Given the description of an element on the screen output the (x, y) to click on. 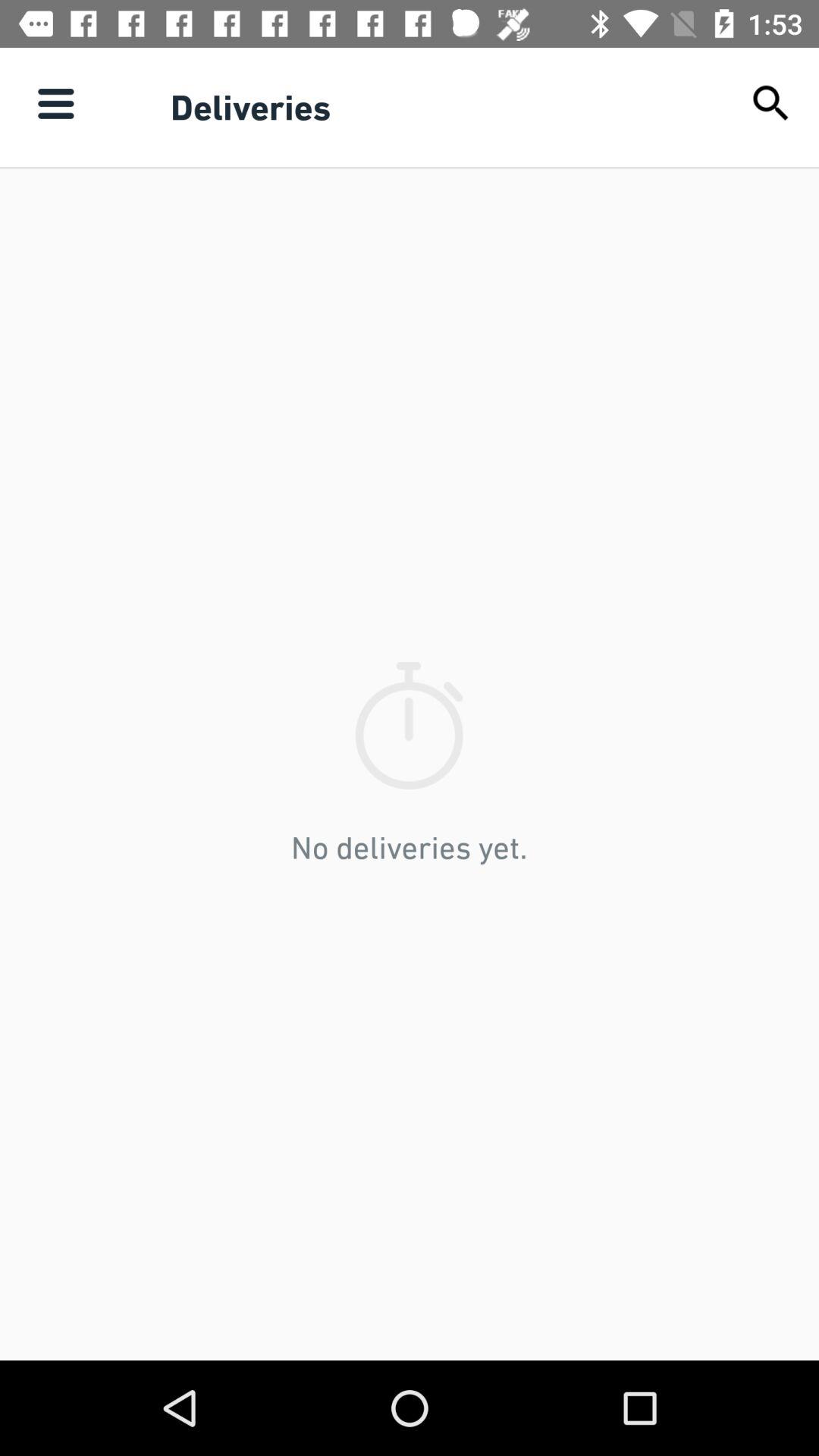
turn off the item to the right of deliveries icon (771, 103)
